Given the description of an element on the screen output the (x, y) to click on. 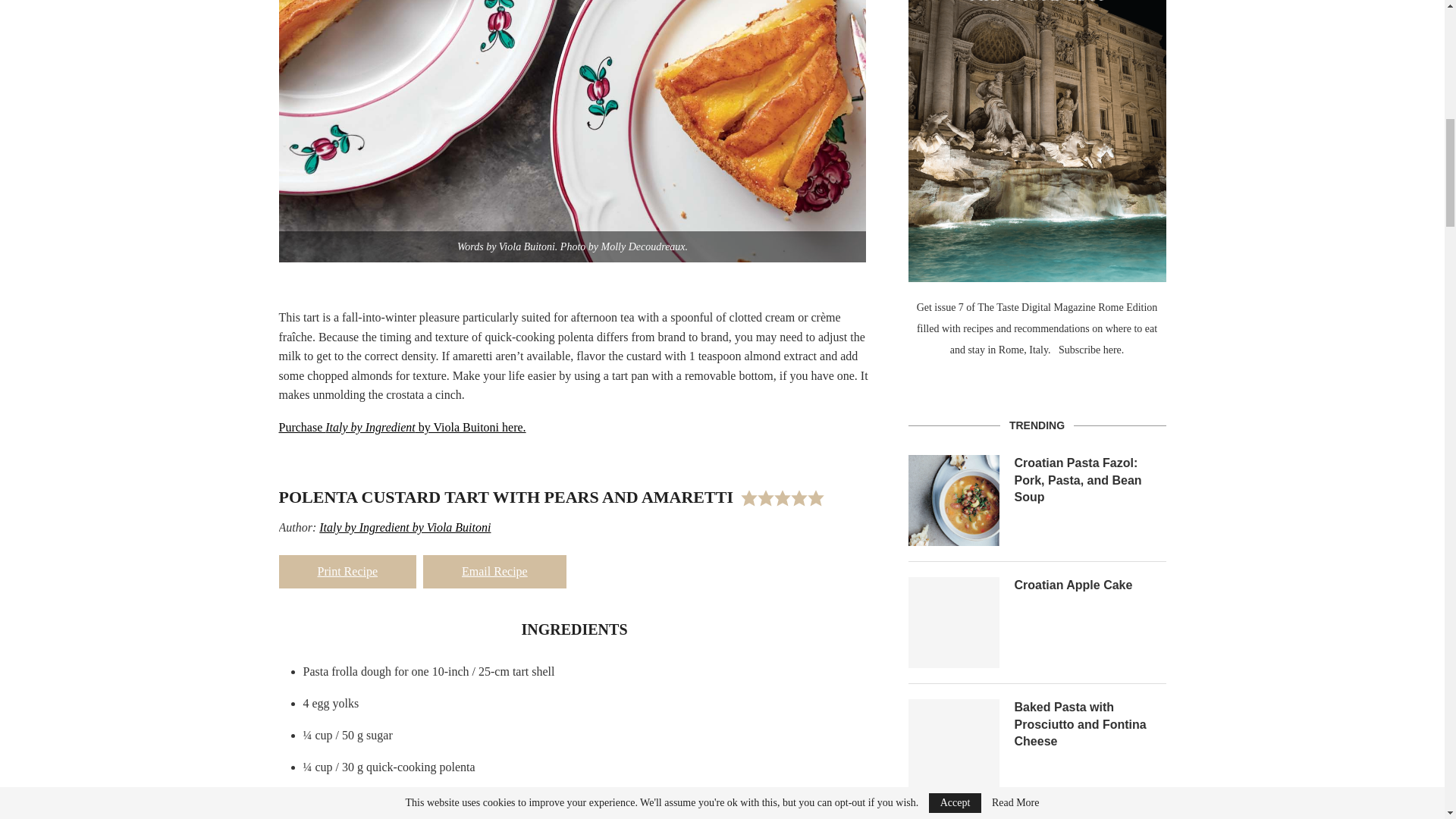
Baked Pasta with Prosciutto and Fontina Cheese (1090, 724)
Croatian Apple Cake (1090, 585)
Croatian Pasta Fazol: Pork, Pasta, and Bean Soup (1090, 480)
Croatian Pasta Fazol: Pork, Pasta, and Bean Soup (953, 500)
Baked Pasta with Prosciutto and Fontina Cheese (953, 744)
Croatian Apple Cake (953, 622)
